Given the description of an element on the screen output the (x, y) to click on. 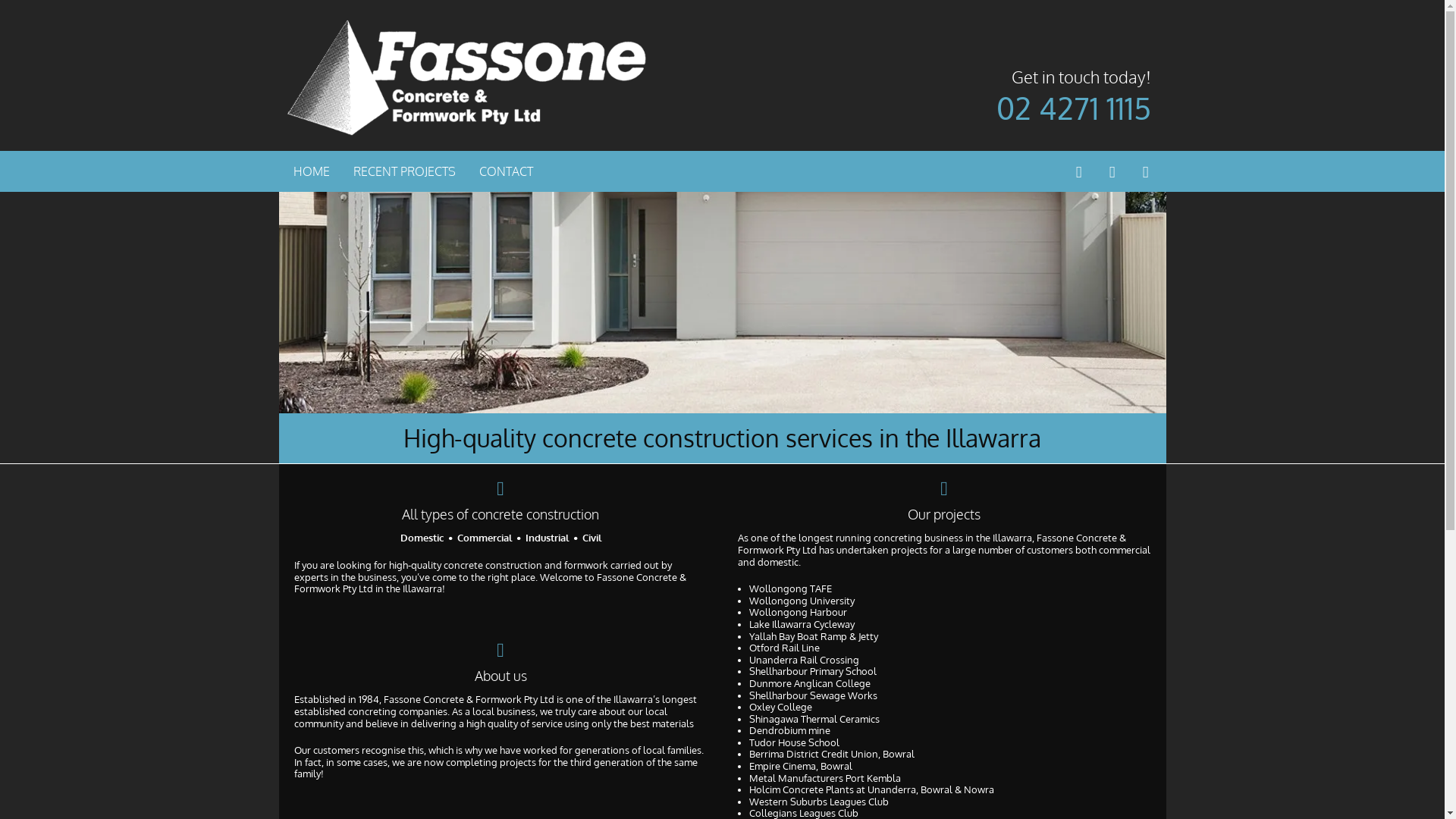
RECENT PROJECTS Element type: text (404, 171)
HOME Element type: text (310, 171)
CONTACT Element type: text (506, 171)
fassone concrete and formwork pty ltd logo Element type: hover (500, 75)
high quality concrete construction services Element type: hover (722, 302)
02 4271 1115 Element type: text (1073, 125)
